Given the description of an element on the screen output the (x, y) to click on. 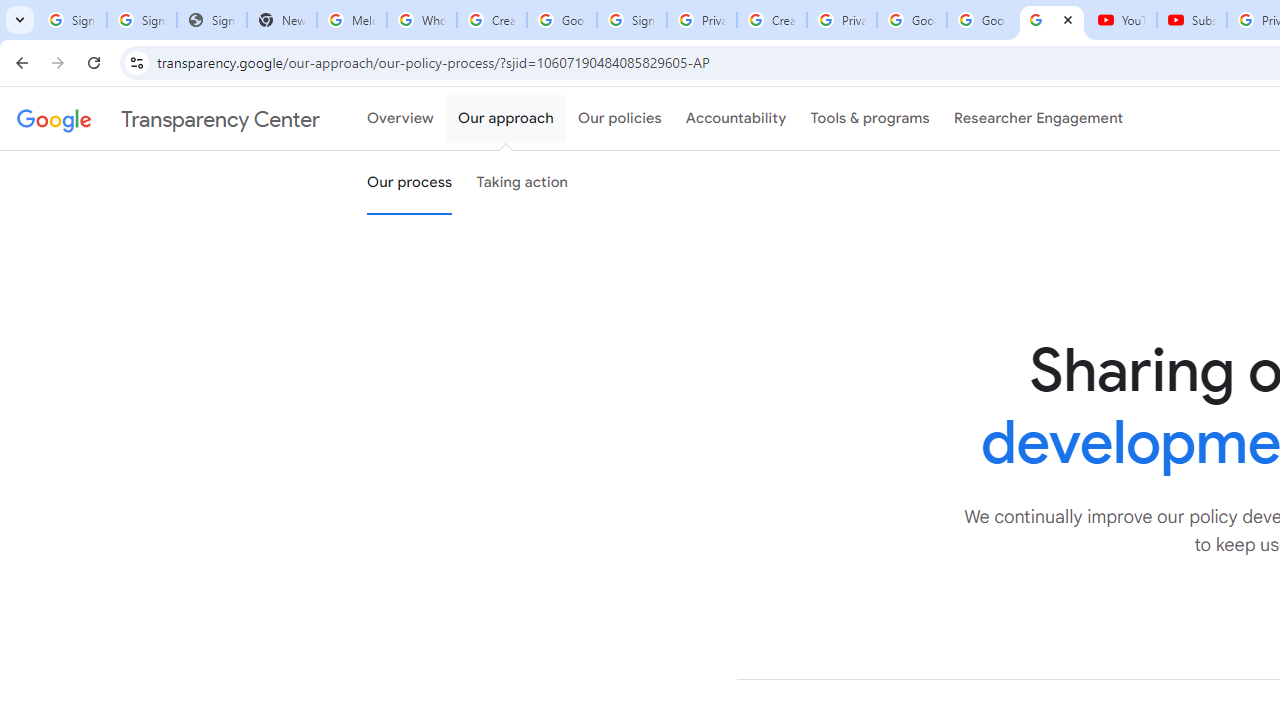
Subscriptions - YouTube (1192, 20)
Who is my administrator? - Google Account Help (421, 20)
Create your Google Account (492, 20)
New Tab (282, 20)
Sign in - Google Accounts (141, 20)
Tools & programs (869, 119)
